Given the description of an element on the screen output the (x, y) to click on. 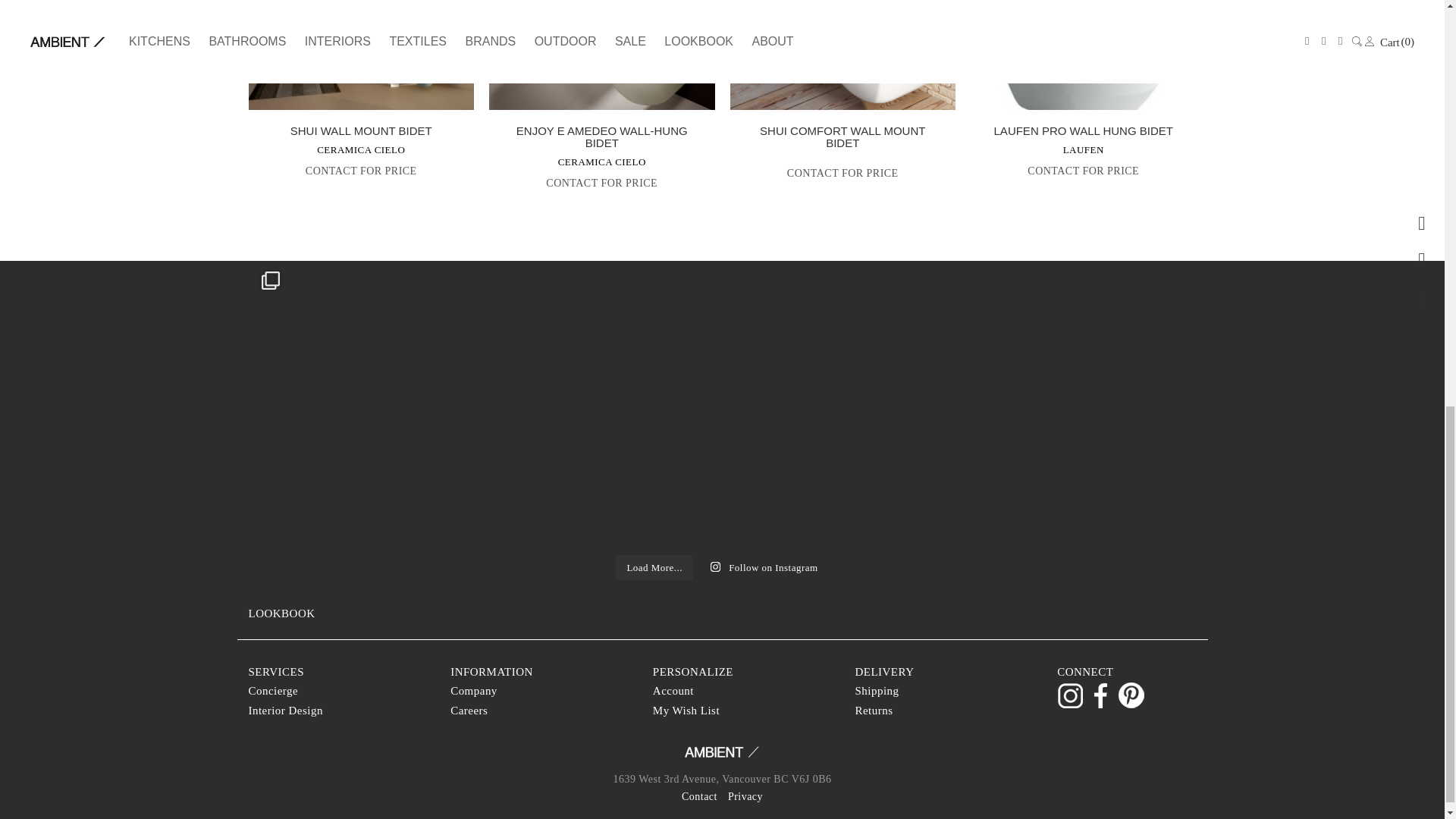
50313-8637392 (361, 54)
laufen-8309521 (1083, 54)
Ambient Showroom (722, 756)
Screen Shot 2020-07-22 at 3.26.23 PM (842, 54)
Screen-Shot-2020-07-30-at-1.57.19-PM (601, 54)
